Given the description of an element on the screen output the (x, y) to click on. 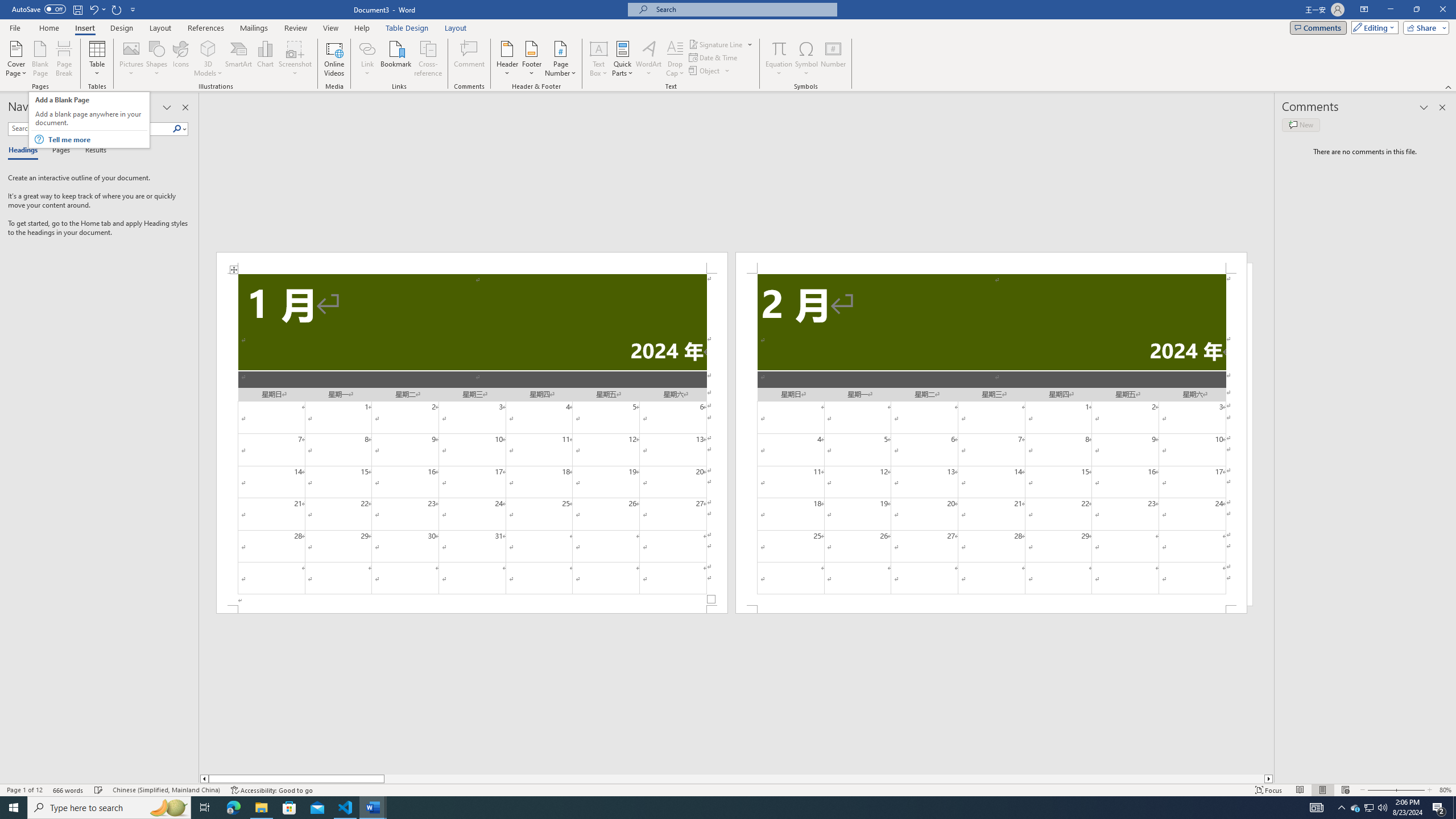
WordArt (648, 58)
Page Number (560, 58)
Text Box (598, 58)
SmartArt... (238, 58)
Date & Time... (714, 56)
Symbol (806, 58)
Microsoft search (742, 9)
Page Number Page 1 of 12 (24, 790)
